Given the description of an element on the screen output the (x, y) to click on. 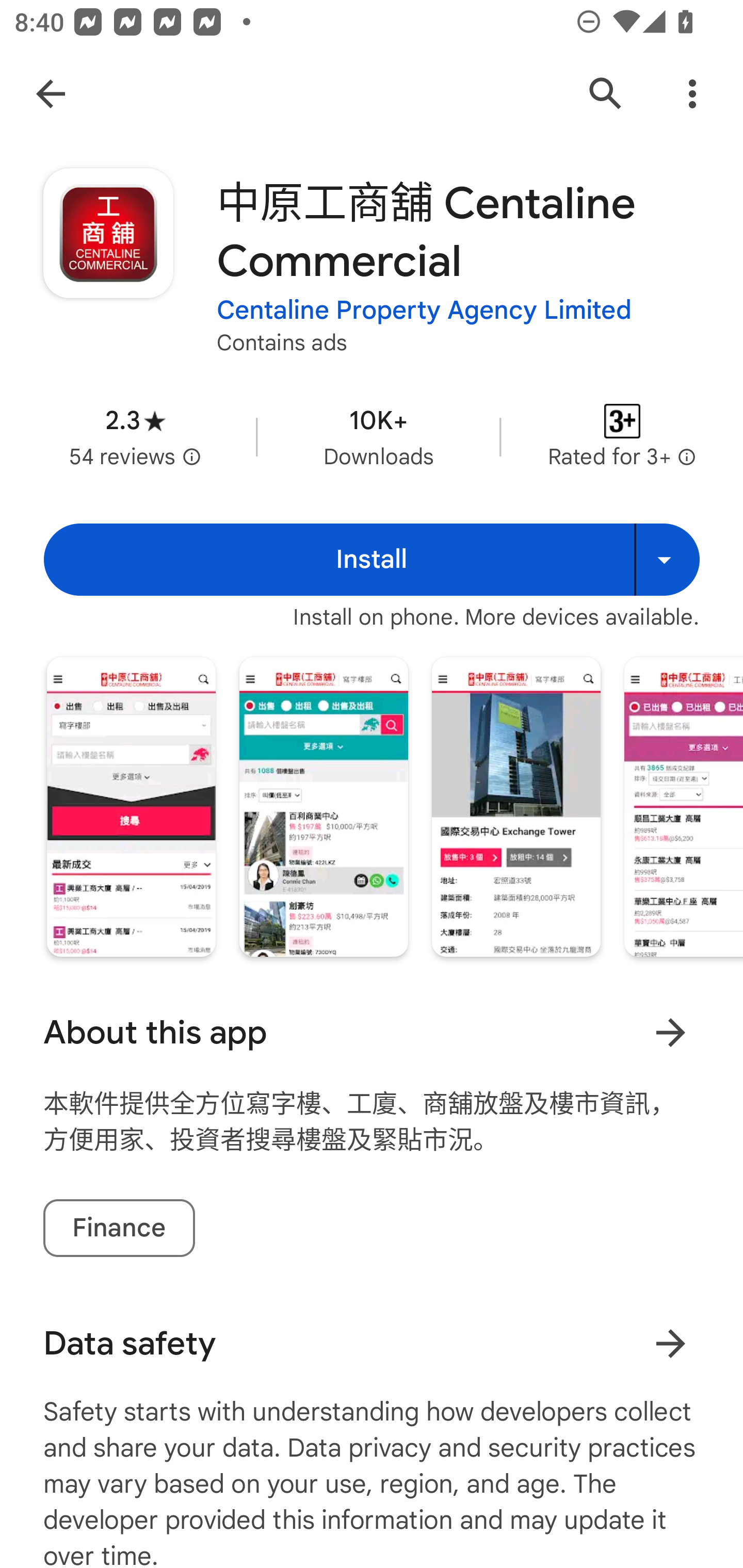
Navigate up (50, 93)
Search Google Play (605, 93)
More Options (692, 93)
Centaline Property Agency Limited (423, 310)
Average rating 2.3 stars in 54 reviews (135, 436)
Content rating Rated for 3+ (622, 436)
Install Install Install on more devices (371, 559)
Install on more devices (667, 559)
Screenshot "1" of "8" (130, 806)
Screenshot "2" of "8" (323, 806)
Screenshot "3" of "8" (515, 806)
Screenshot "4" of "8" (683, 806)
About this app Learn more About this app (371, 1032)
Learn more About this app (670, 1032)
Finance tag (118, 1228)
Data safety Learn more about data safety (371, 1343)
Learn more about data safety (670, 1343)
